Given the description of an element on the screen output the (x, y) to click on. 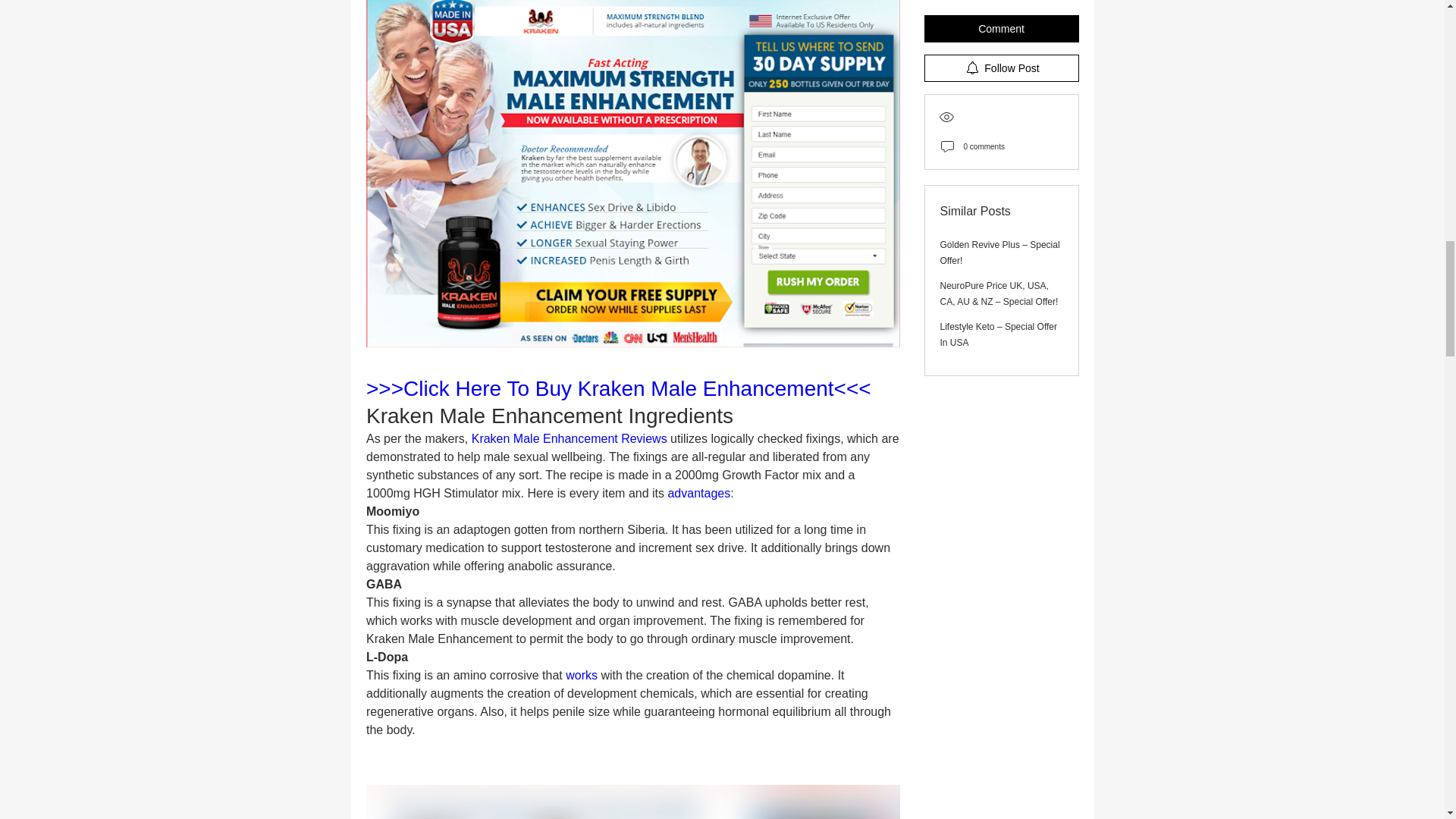
works  (582, 675)
advantages (698, 492)
Kraken Male Enhancement Reviews (568, 438)
